Given the description of an element on the screen output the (x, y) to click on. 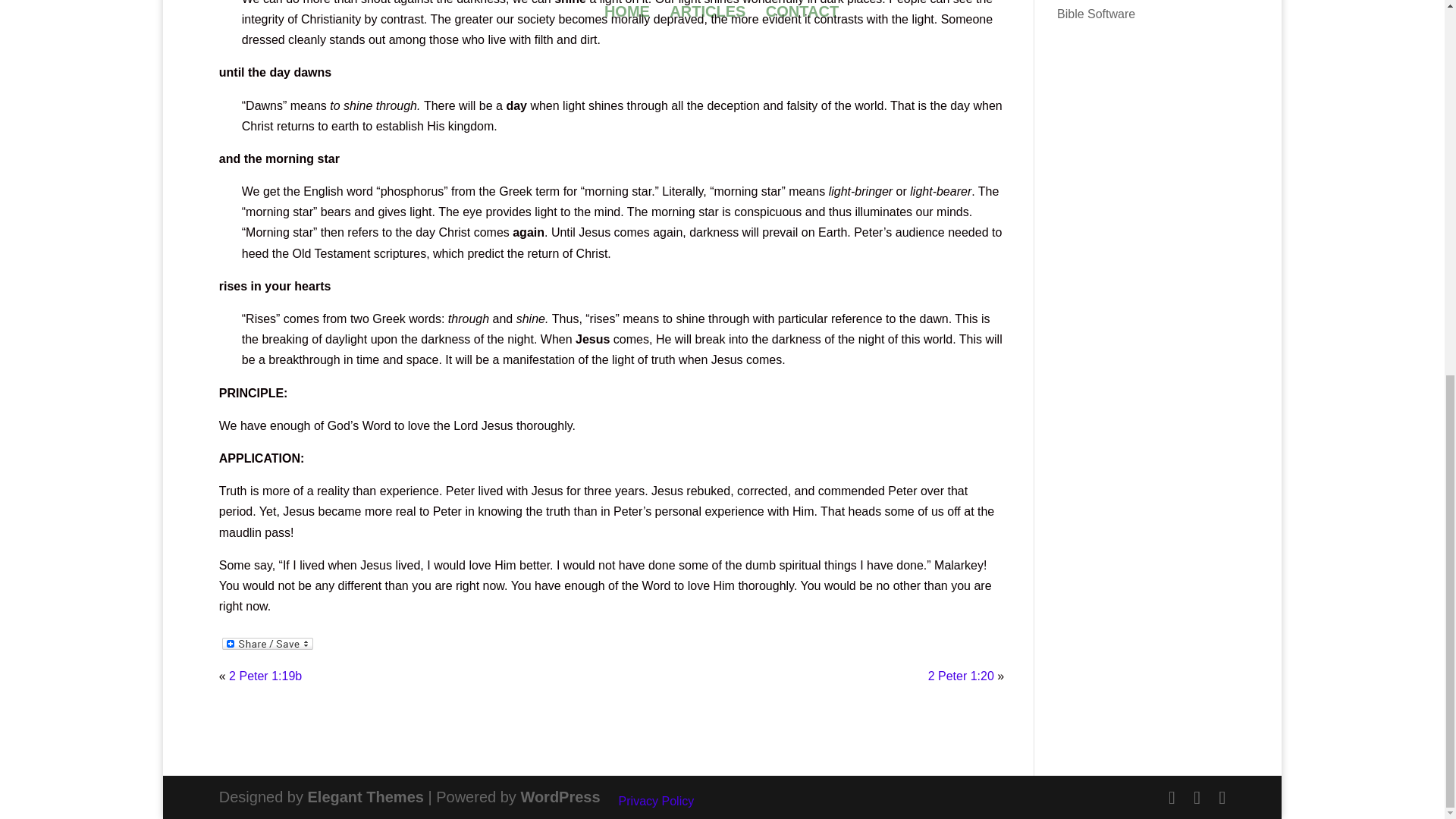
Privacy Policy (656, 800)
Privacy Policy (656, 800)
Elegant Themes (365, 796)
WordPress (559, 796)
2 Peter 1:19b (264, 675)
Grant's Verse-by-Verse Logos Bible Software (1137, 10)
Premium WordPress Themes (365, 796)
2 Peter 1:20 (961, 675)
